Given the description of an element on the screen output the (x, y) to click on. 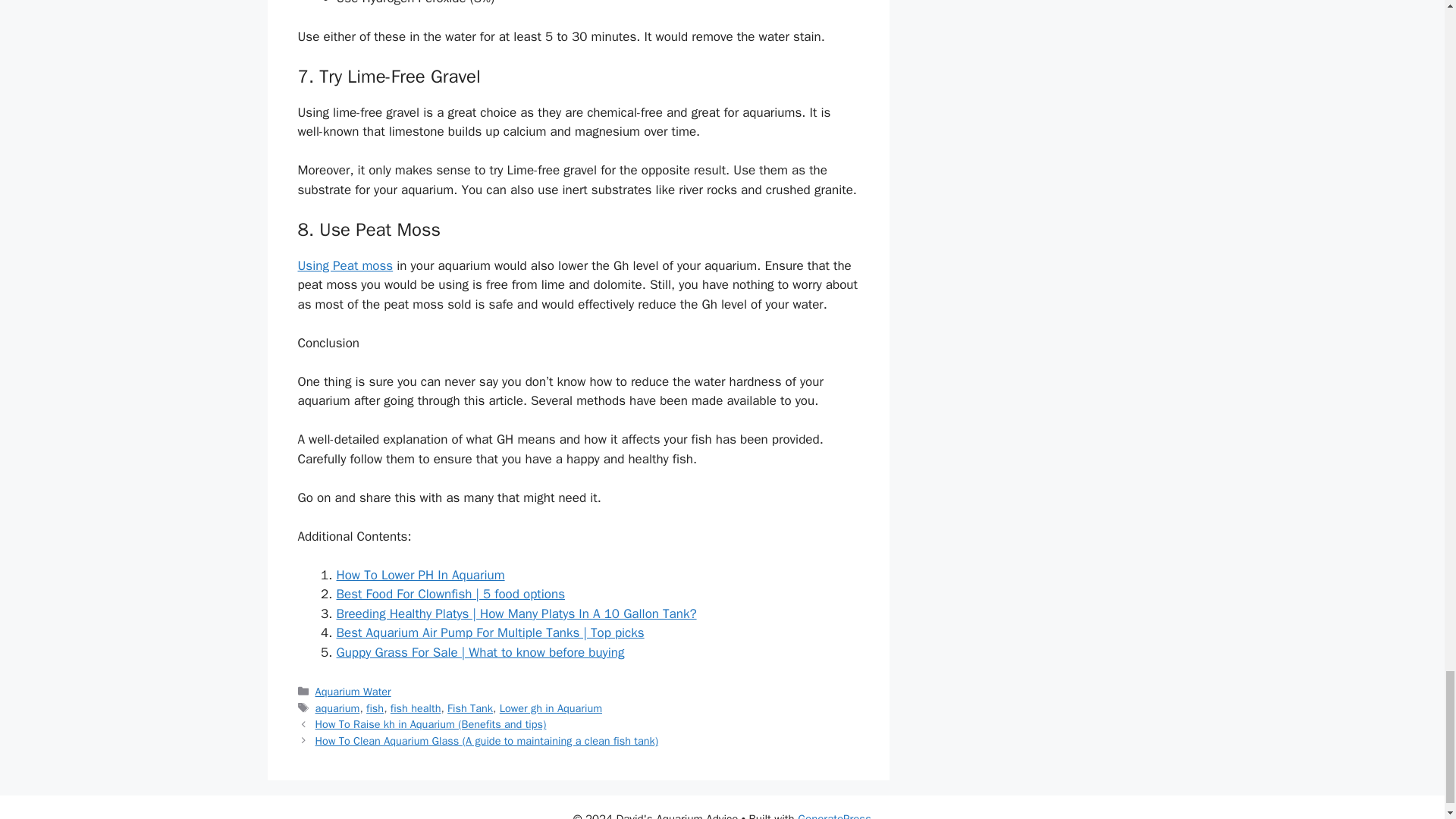
Using Peat moss (345, 265)
How To Lower PH In Aquarium (420, 575)
Aquarium Water (353, 691)
